Given the description of an element on the screen output the (x, y) to click on. 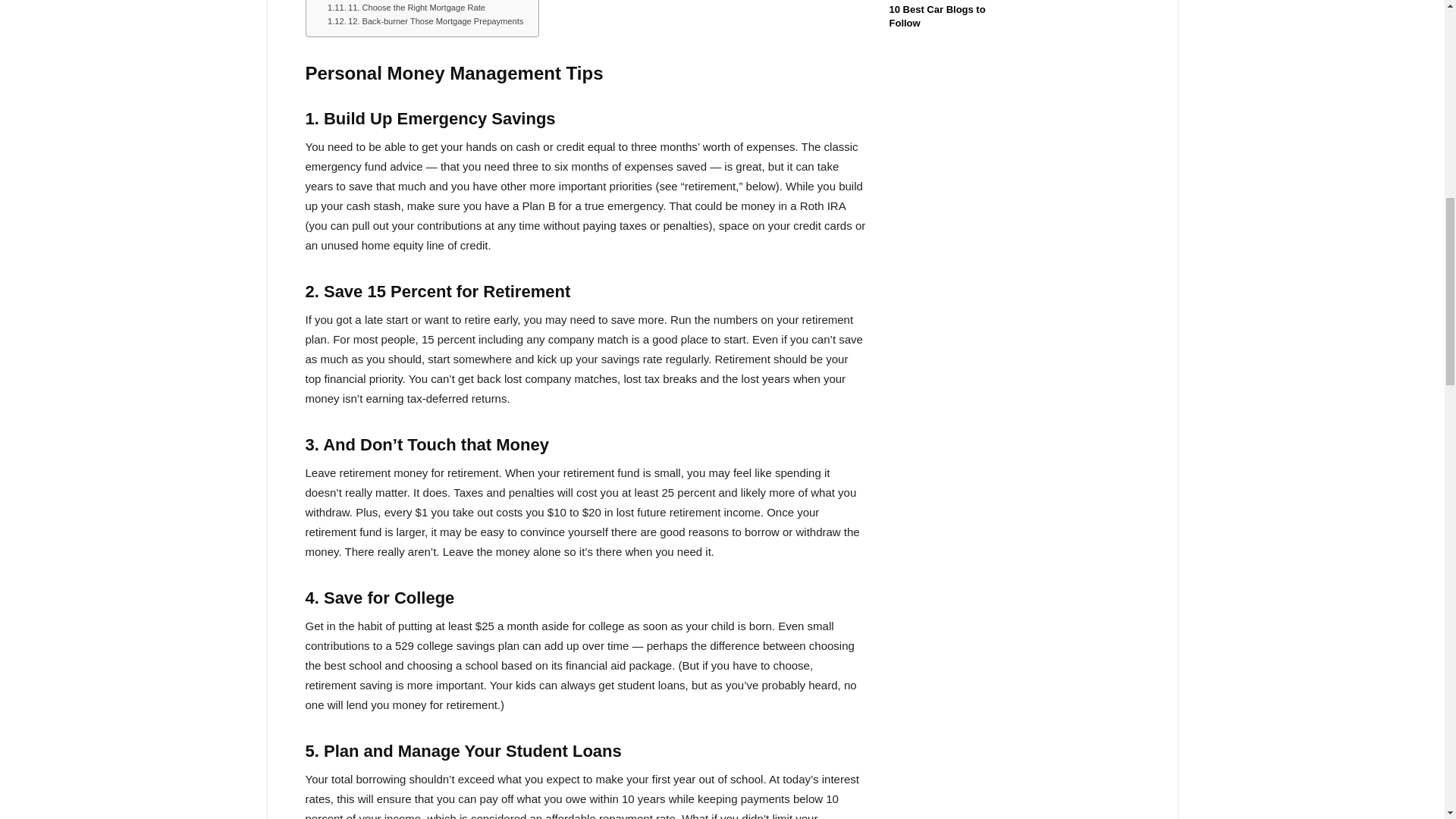
11. Choose the Right Mortgage Rate (405, 8)
12. Back-burner Those Mortgage Prepayments (424, 21)
10. Choose a Reasonable Mortgage Amount (420, 1)
